Given the description of an element on the screen output the (x, y) to click on. 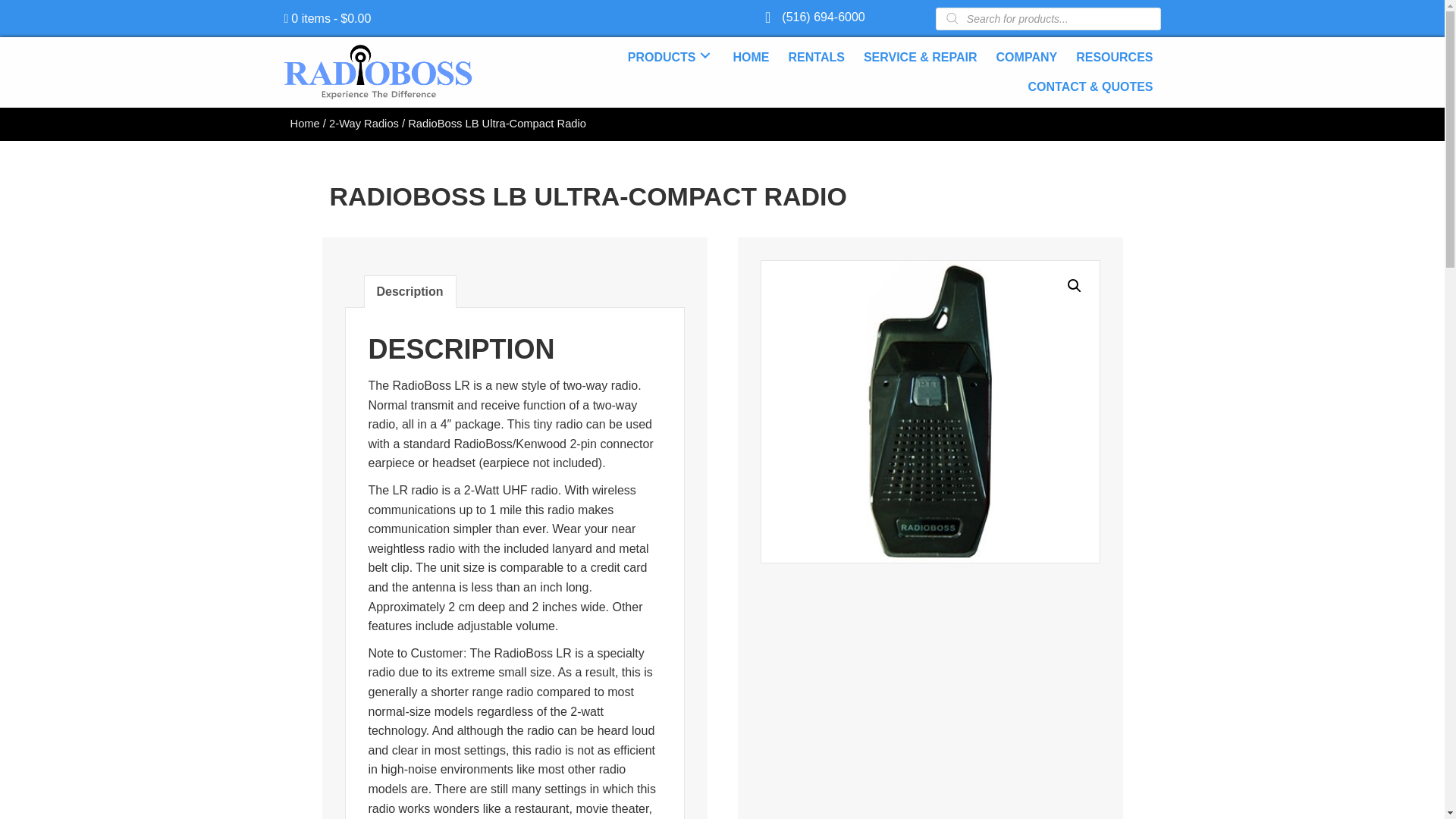
RADIOBOSS LOGO - FINAL- (377, 72)
COMPANY (1026, 54)
HOME (751, 54)
Home (303, 123)
PRODUCTS (671, 54)
LBLQ (929, 411)
RESOURCES (1114, 54)
Start shopping (327, 18)
2-Way Radios (363, 123)
RENTALS (815, 54)
